Given the description of an element on the screen output the (x, y) to click on. 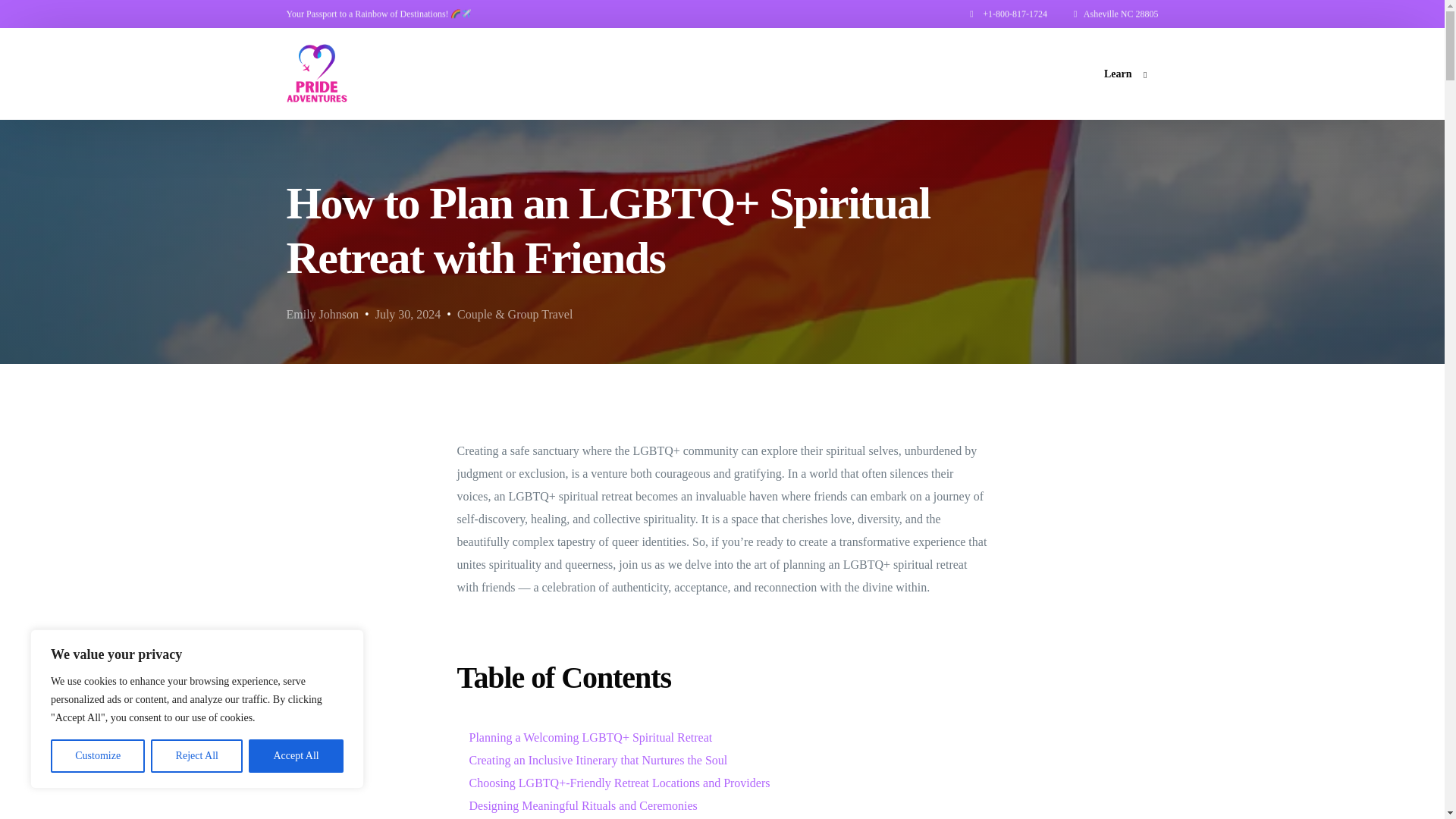
Accept All (295, 756)
Reject All (197, 756)
Designing Meaningful Rituals and Ceremonies (582, 805)
Creating an Inclusive Itinerary that Nurtures the Soul (597, 759)
Customize (97, 756)
Emily Johnson (322, 314)
